Given the description of an element on the screen output the (x, y) to click on. 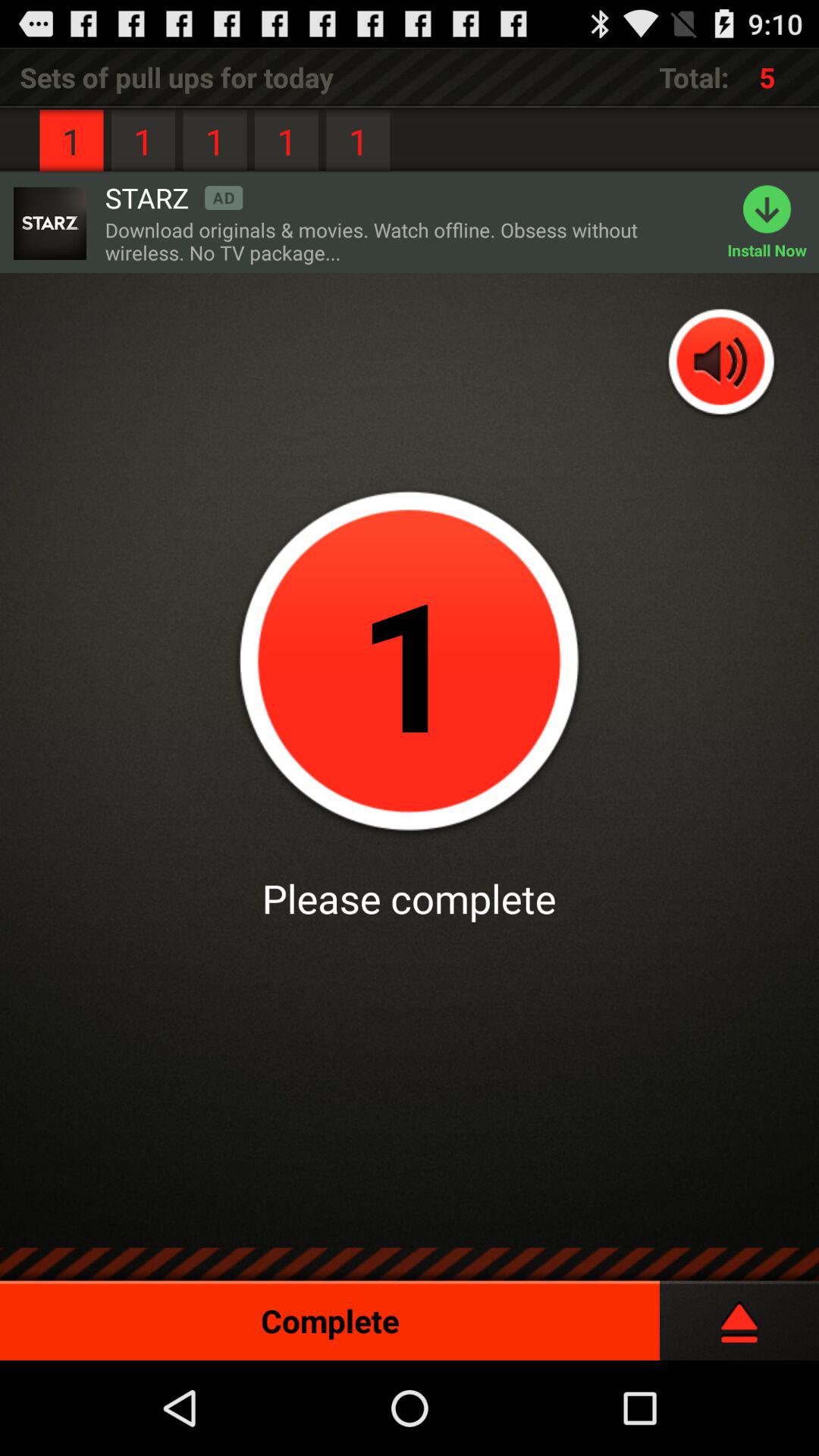
open item next to the starz item (49, 222)
